Given the description of an element on the screen output the (x, y) to click on. 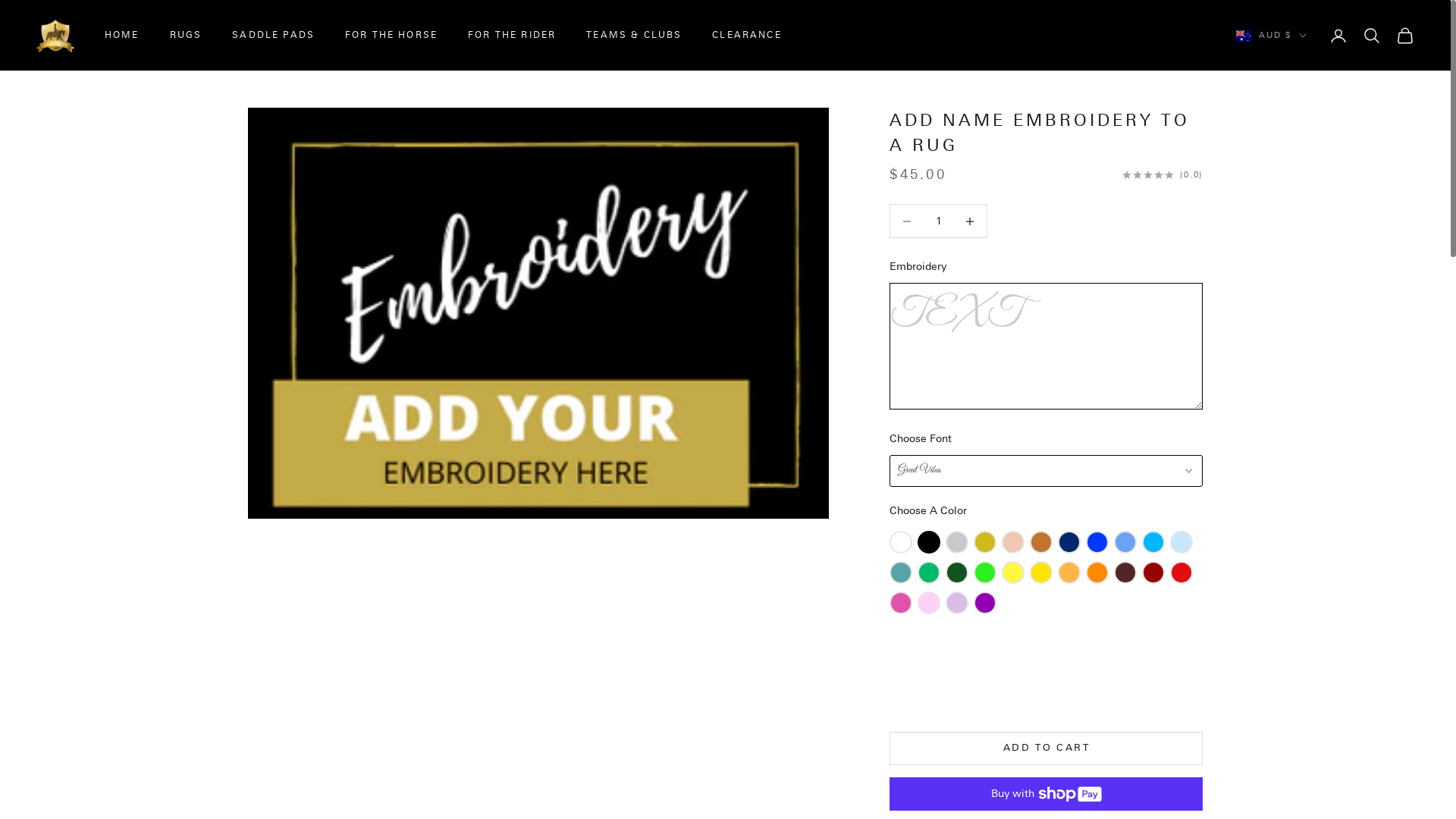
HOME Element type: text (121, 35)
Choose Font Element type: text (1045, 438)
Decrease quantity Element type: text (906, 220)
(0.0) Element type: text (1162, 174)
Open cart Element type: text (1405, 35)
AUD $ Element type: text (1271, 35)
Embroidery Element type: text (1045, 266)
Open account page Element type: text (1338, 35)
Gala Equine Element type: text (55, 35)
ADD TO CART Element type: text (1045, 748)
Decrease quantity Element type: text (969, 220)
Choose A Color Element type: text (1045, 510)
Great Vibes Element type: text (1045, 470)
Open search Element type: text (1371, 35)
